Given the description of an element on the screen output the (x, y) to click on. 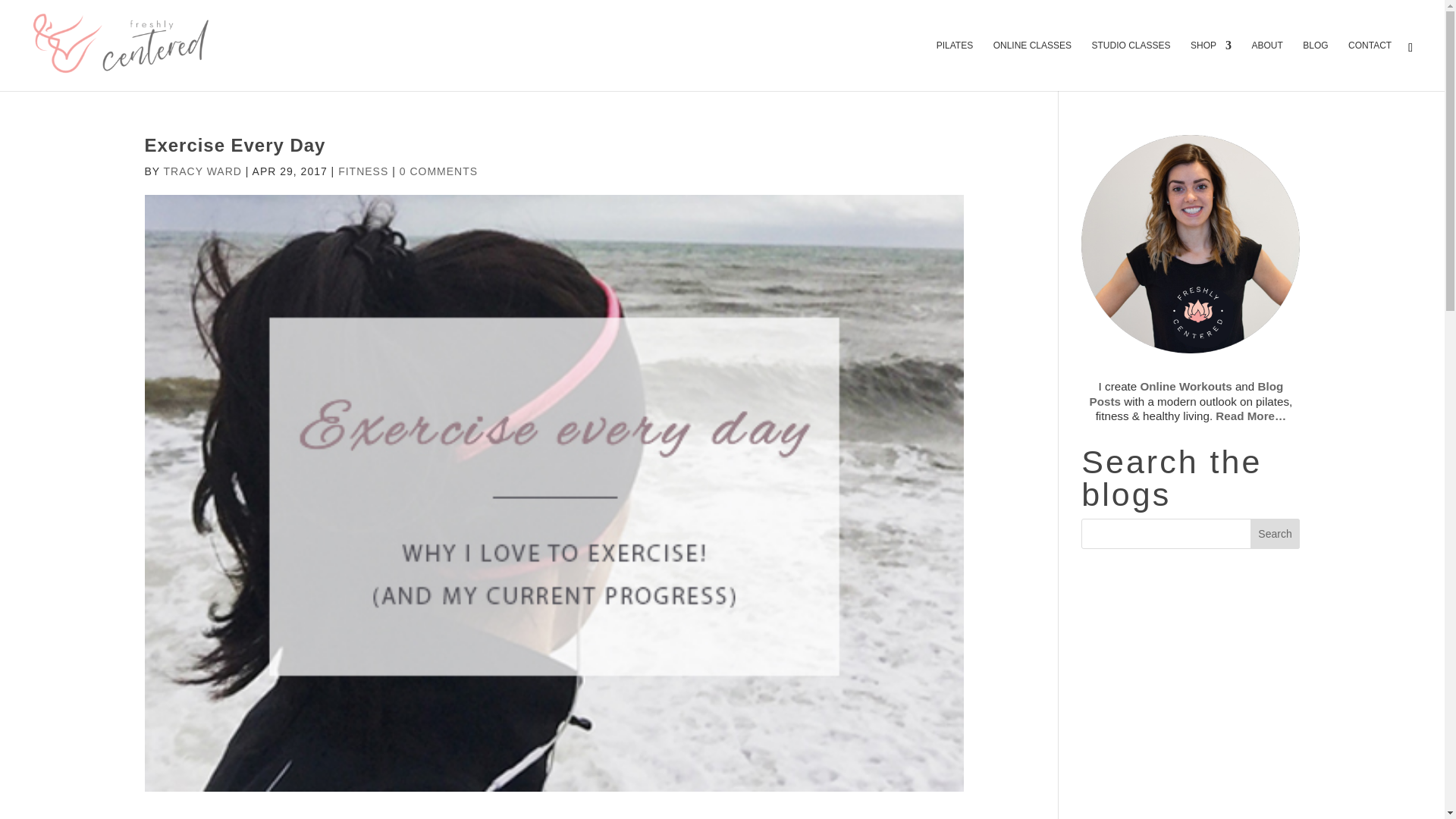
0 COMMENTS (437, 171)
Posts by Tracy Ward (202, 171)
STUDIO CLASSES (1130, 65)
BLOG (1315, 65)
Online Workouts (1185, 386)
Search (1275, 533)
CONTACT (1369, 65)
SHOP (1211, 65)
PILATES (954, 65)
TRACY WARD (202, 171)
ONLINE CLASSES (1031, 65)
Search (1275, 533)
Blog Posts (1186, 393)
Advertisement (1190, 695)
FITNESS (362, 171)
